Given the description of an element on the screen output the (x, y) to click on. 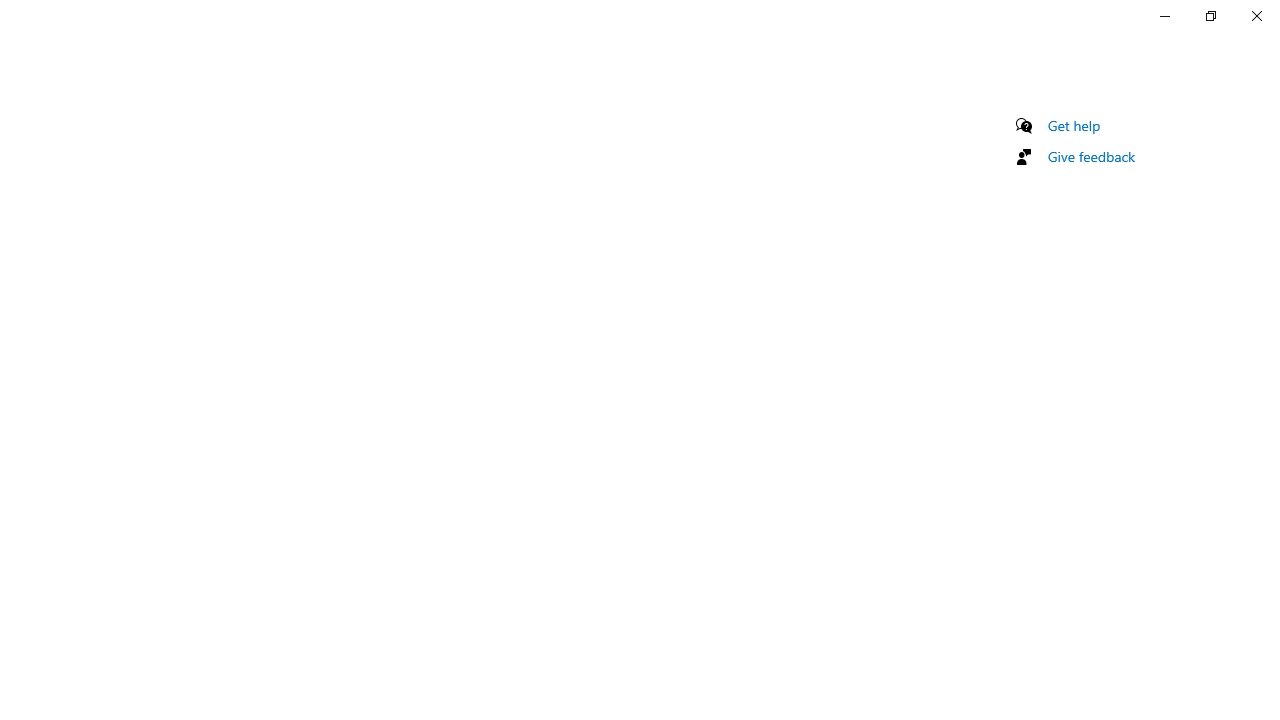
Give feedback (1091, 156)
Get help (1074, 125)
Close Settings (1256, 15)
Minimize Settings (1164, 15)
Restore Settings (1210, 15)
